Given the description of an element on the screen output the (x, y) to click on. 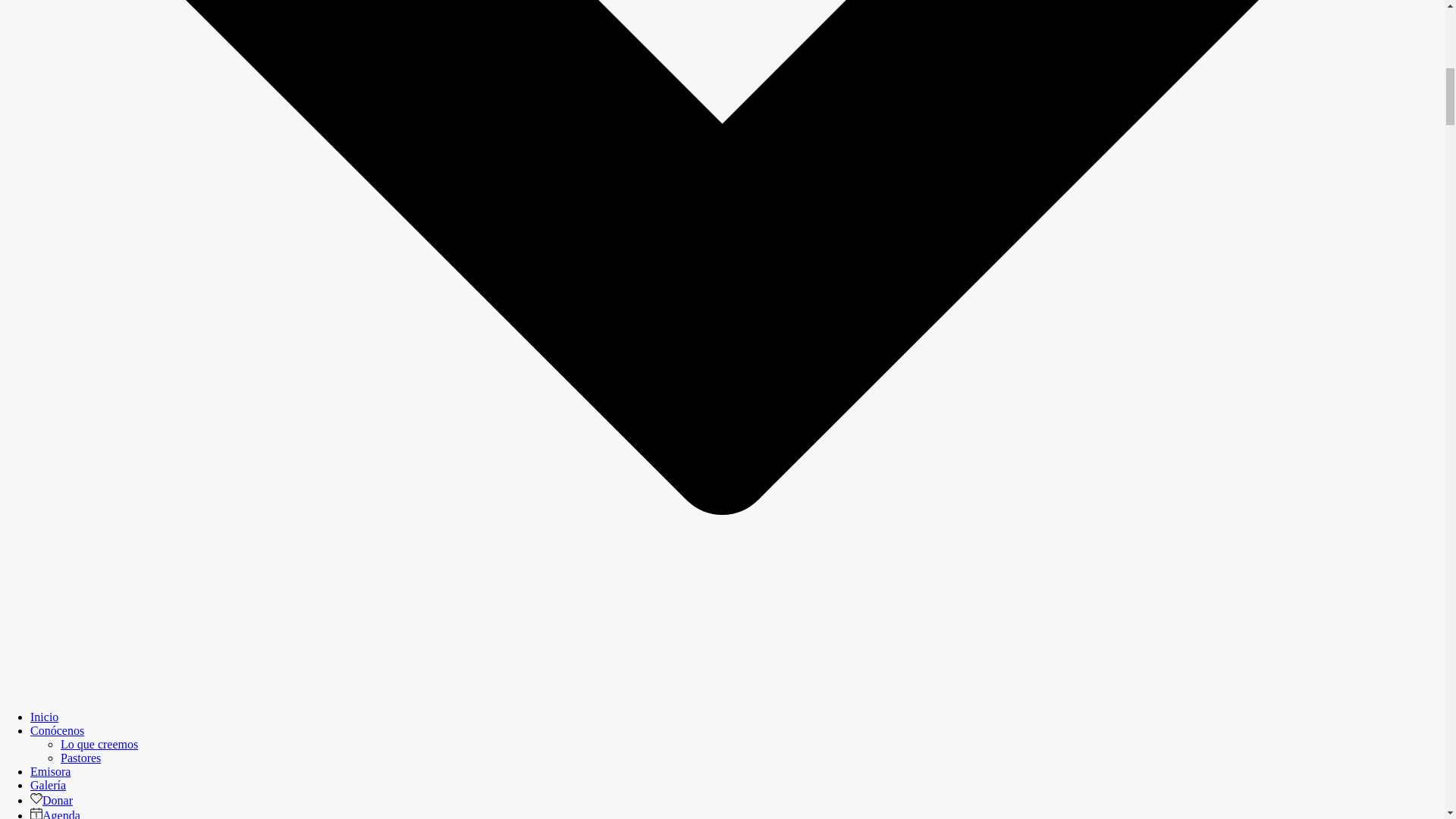
Agenda (55, 814)
Lo que creemos (99, 744)
Agenda (55, 814)
Inicio (44, 716)
Emisora (49, 771)
Inicio (44, 716)
Lo que creemos (99, 744)
Emisora (49, 771)
Donar (51, 799)
Donar (51, 799)
Pastores (80, 757)
Pastores (80, 757)
